Given the description of an element on the screen output the (x, y) to click on. 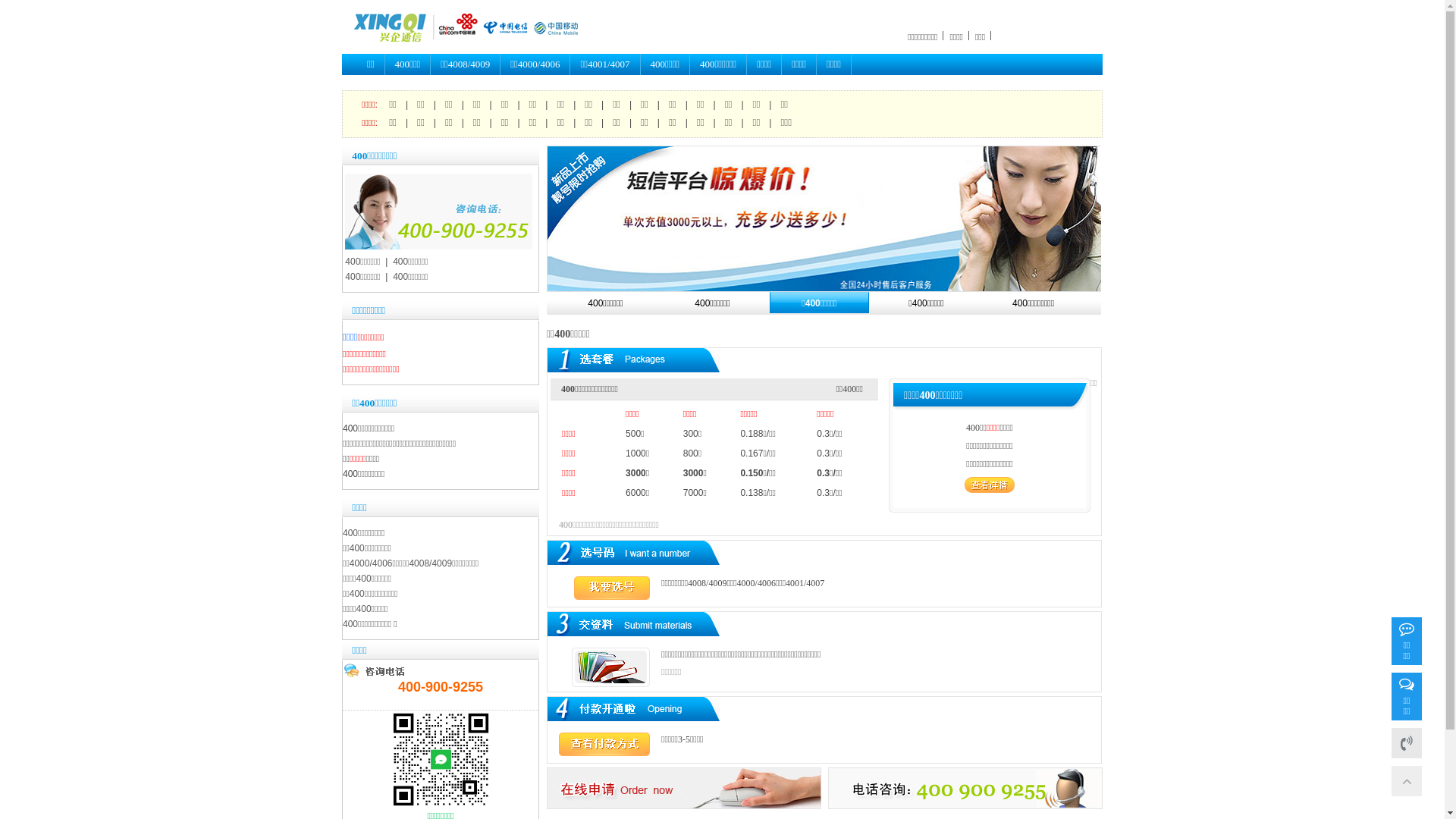
400-900-9255 Element type: hover (1406, 743)
